Given the description of an element on the screen output the (x, y) to click on. 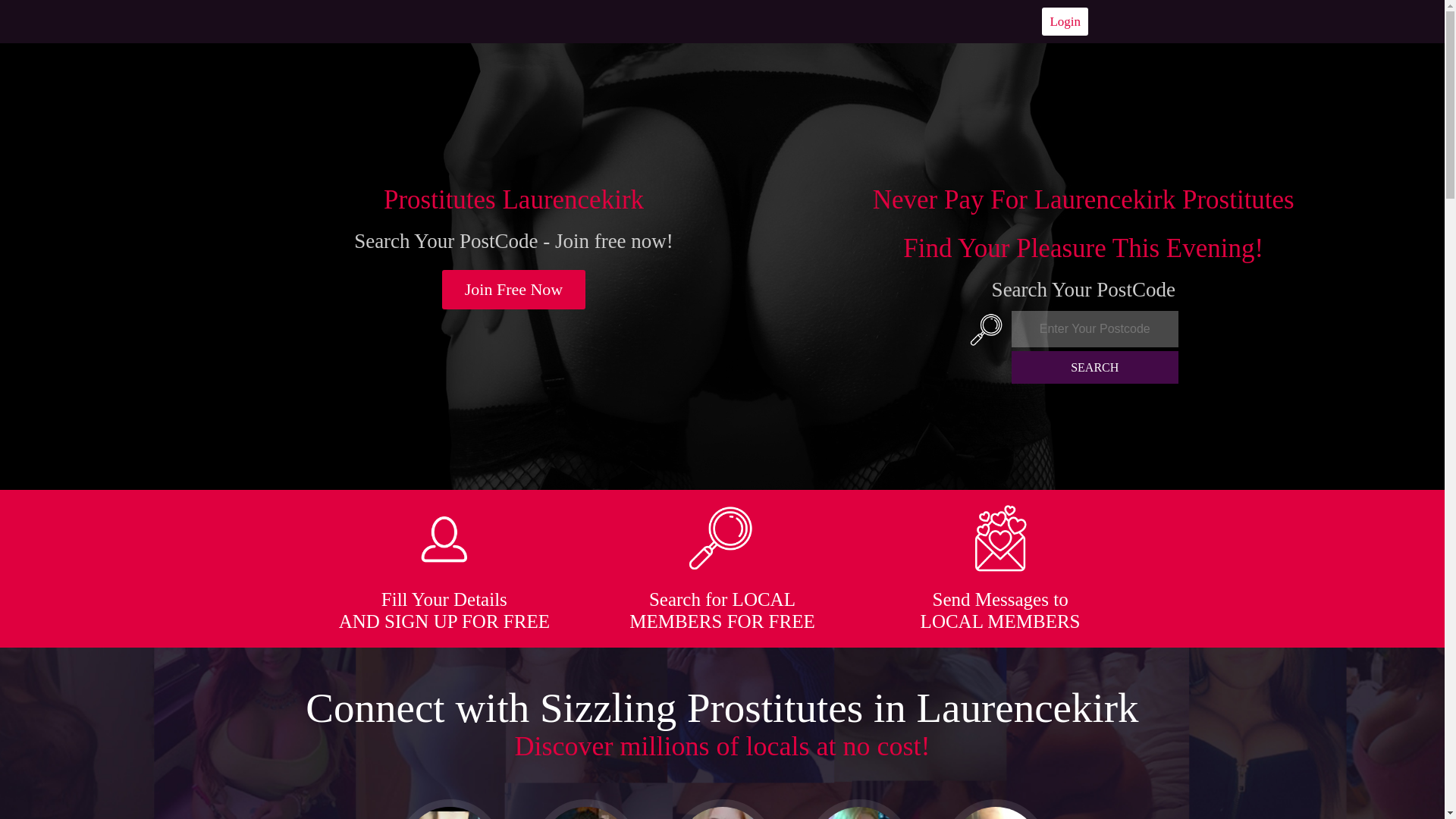
SEARCH (1094, 367)
Join (514, 289)
Login (1064, 21)
Join Free Now (514, 289)
Login (1064, 21)
